Given the description of an element on the screen output the (x, y) to click on. 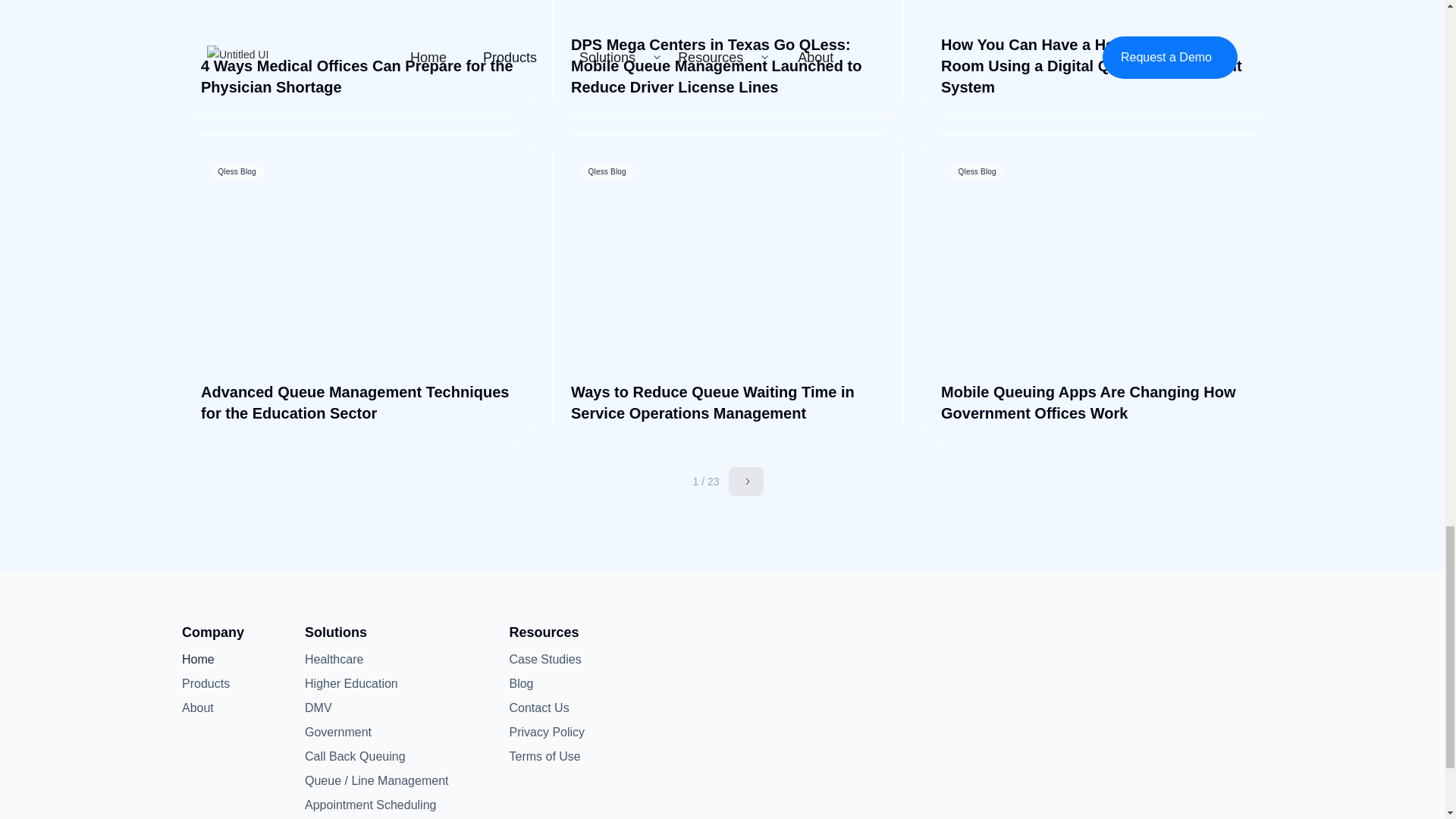
Qless Blog (357, 263)
Products (206, 683)
Qless Blog (727, 263)
Qless Blog (1097, 263)
Qless Blog (727, 13)
Qless Blog (357, 13)
Higher Education (350, 683)
Home (206, 659)
About (206, 708)
Qless Blog (1097, 13)
Healthcare (333, 659)
